Given the description of an element on the screen output the (x, y) to click on. 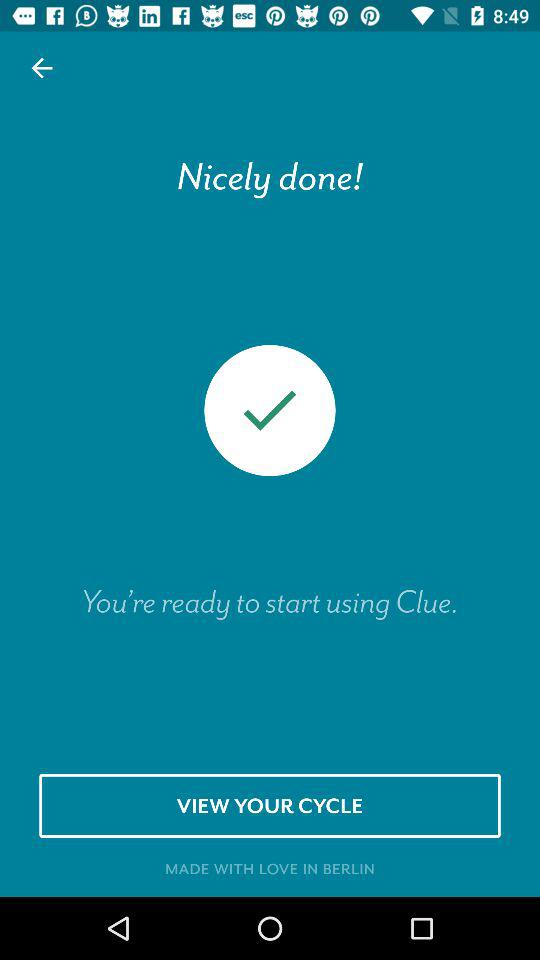
go back (42, 68)
